Given the description of an element on the screen output the (x, y) to click on. 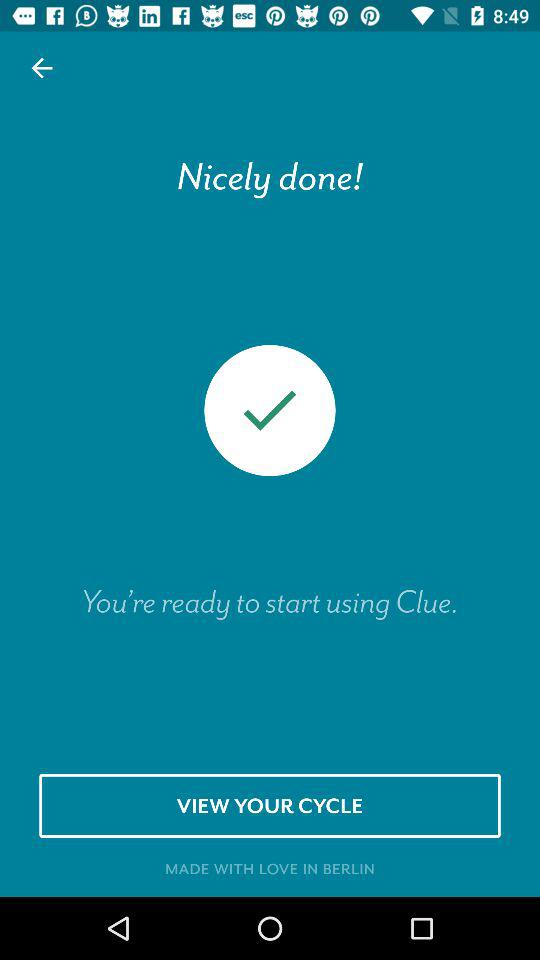
go back (42, 68)
